Given the description of an element on the screen output the (x, y) to click on. 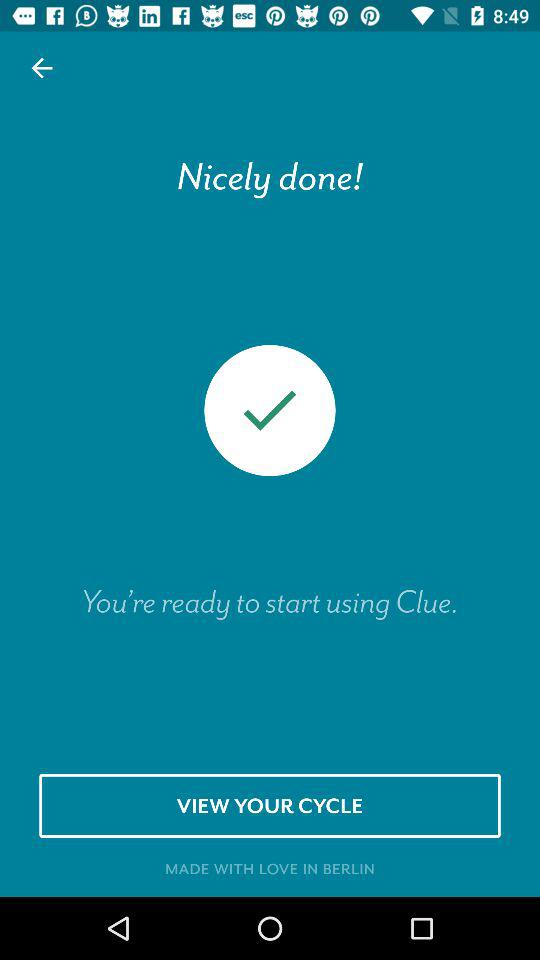
go back (42, 68)
